Given the description of an element on the screen output the (x, y) to click on. 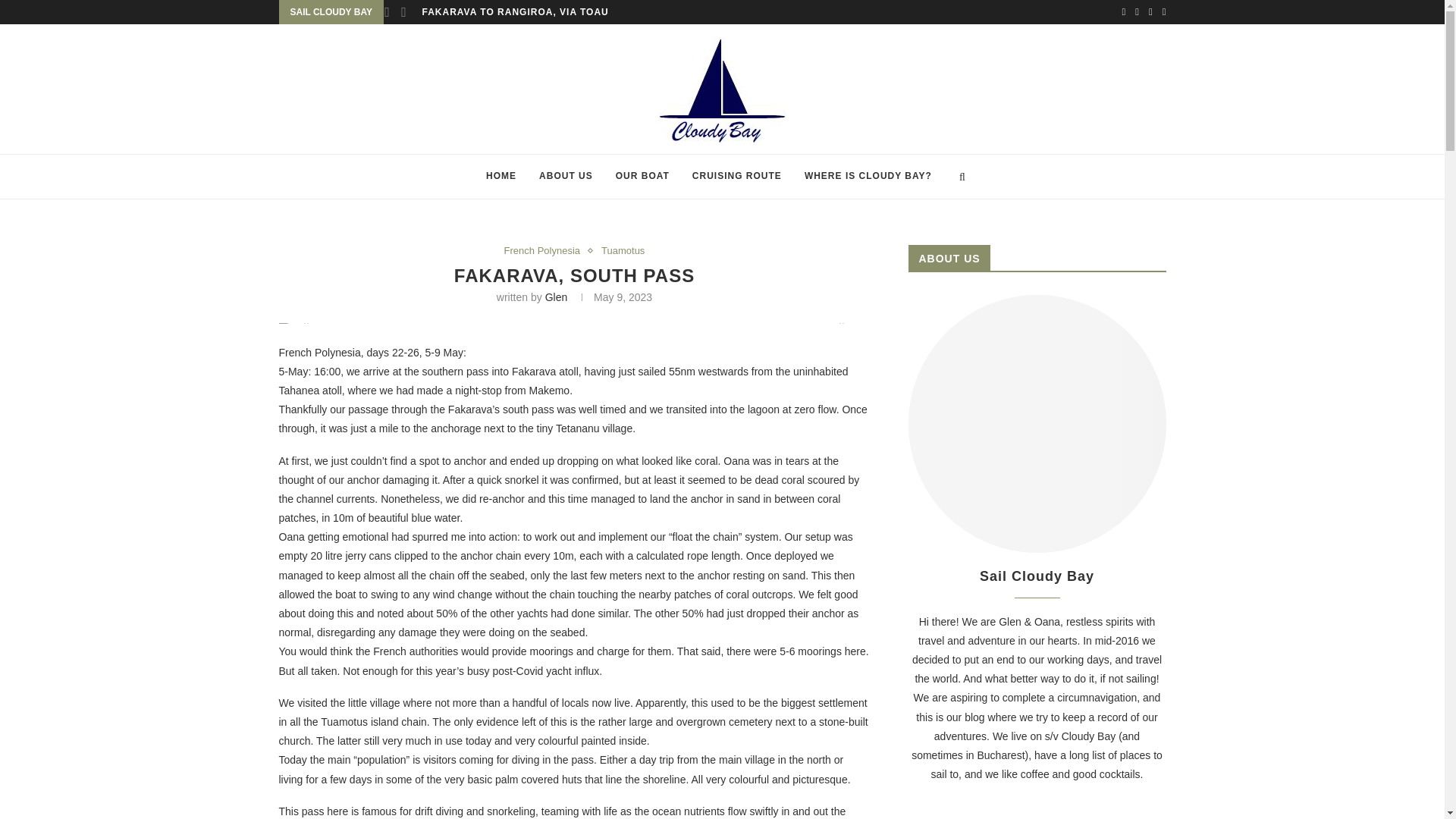
Fakarava south pass (574, 328)
CRUISING ROUTE (737, 176)
FAKARAVA TO RANGIROA, VIA TOAU (515, 12)
Fakarava south pass (139, 328)
OUR BOAT (642, 176)
ABOUT US (565, 176)
HOME (500, 176)
